Given the description of an element on the screen output the (x, y) to click on. 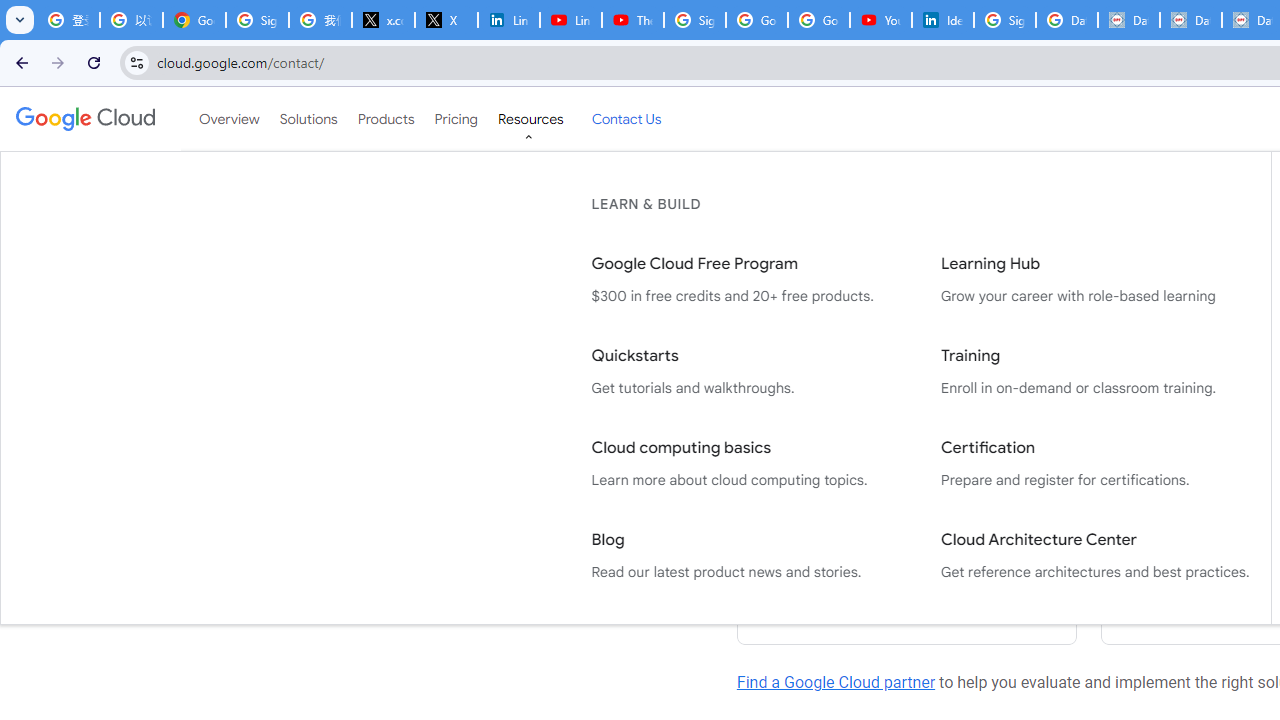
Sign in - Google Accounts (694, 20)
Products (385, 119)
Training Enroll in on-demand or classroom training. (1095, 372)
Resources (530, 119)
Sign in - Google Accounts (1004, 20)
X (445, 20)
LinkedIn - YouTube (570, 20)
Pricing (455, 119)
Certification Prepare and register for certifications. (1095, 463)
Search tabs (20, 20)
Back (19, 62)
Learning Hub Grow your career with role-based learning (1095, 279)
